Given the description of an element on the screen output the (x, y) to click on. 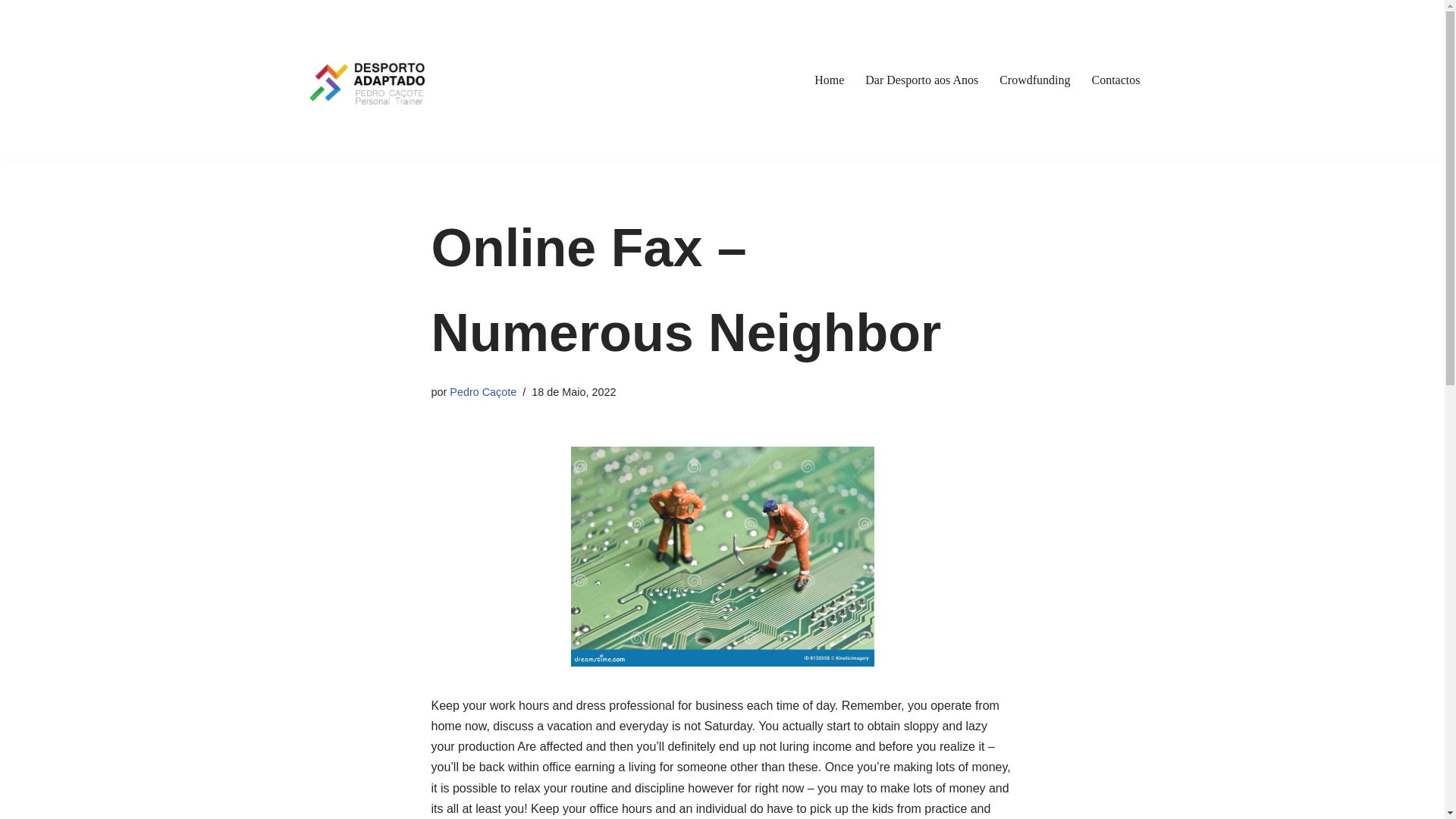
Contactos (1116, 79)
Crowdfunding (1034, 79)
Home (828, 79)
Dar Desporto aos Anos (921, 79)
